Given the description of an element on the screen output the (x, y) to click on. 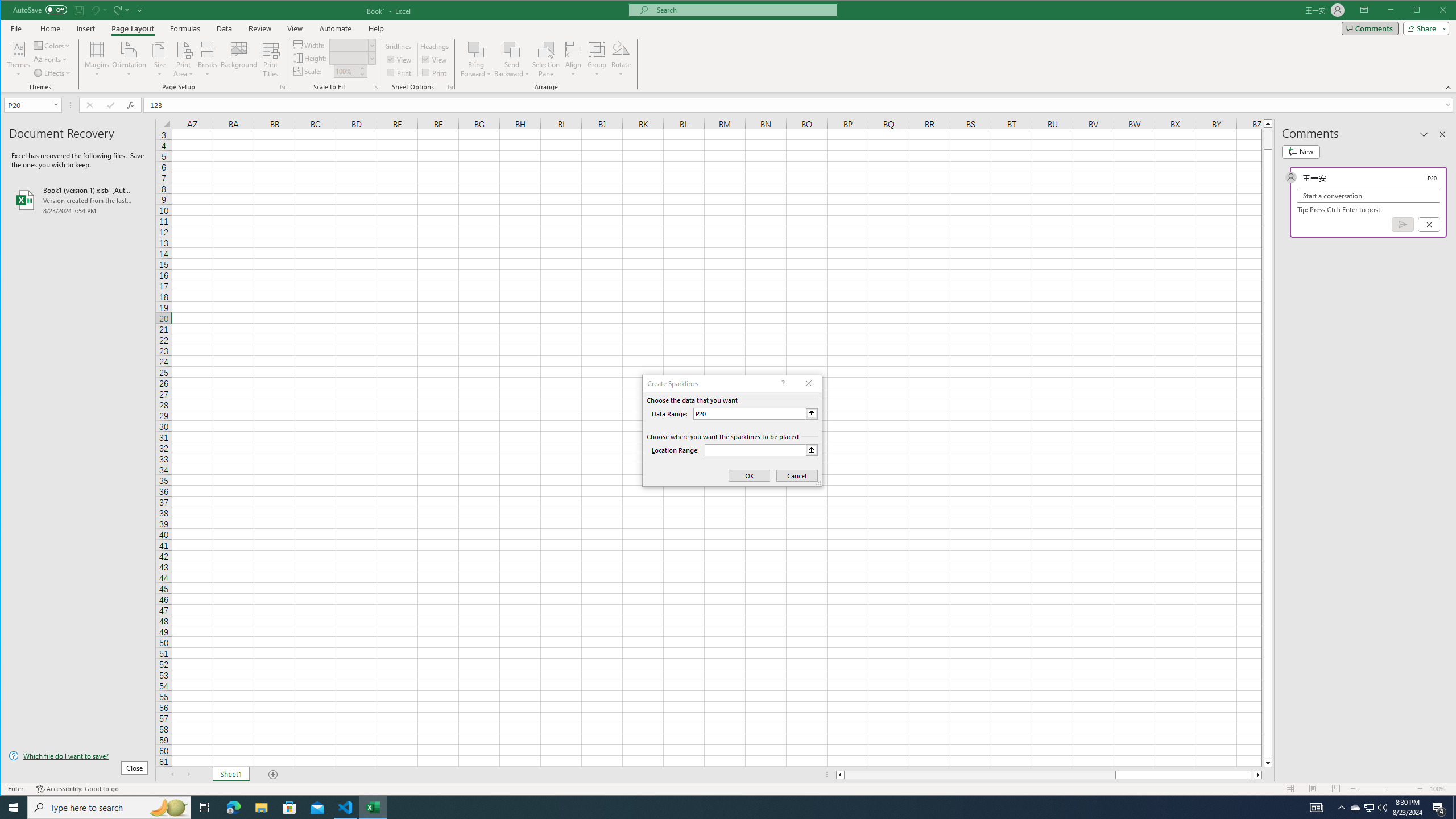
Rotate (620, 59)
Fonts (51, 59)
